Given the description of an element on the screen output the (x, y) to click on. 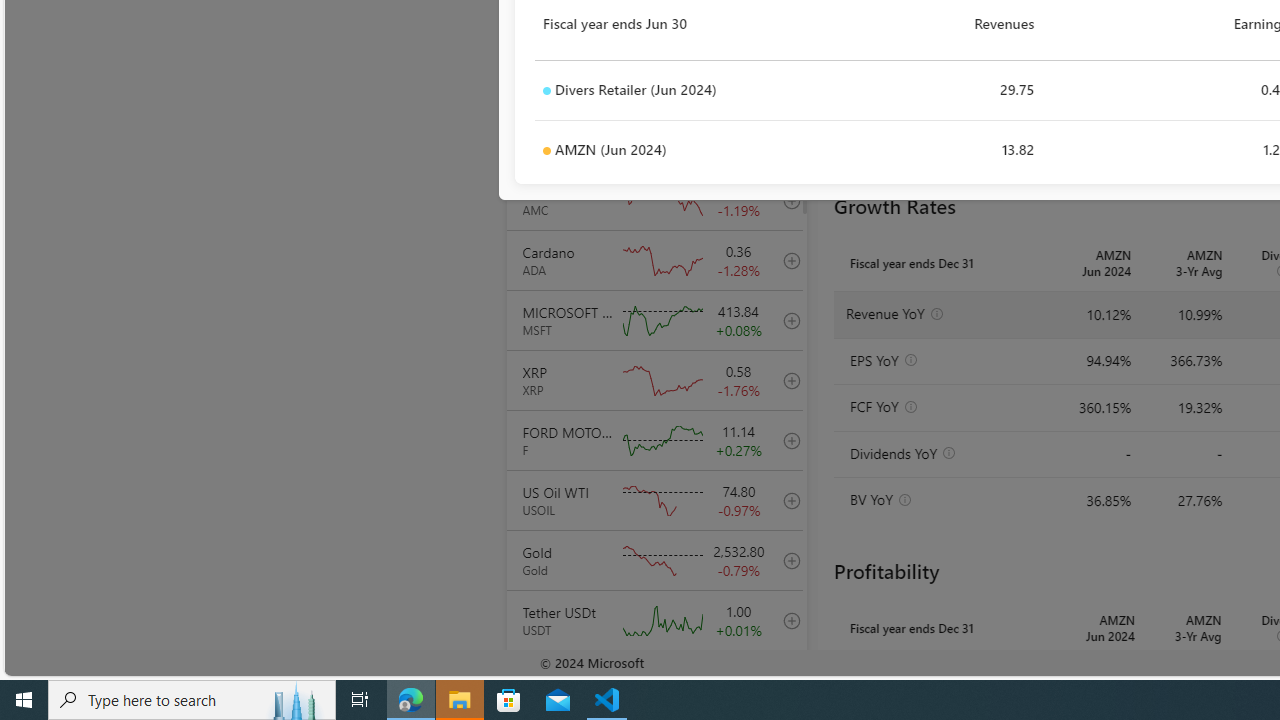
add to your watchlist (786, 680)
Class: symbolDot-DS-EntryPoint1-2 (546, 151)
